Given the description of an element on the screen output the (x, y) to click on. 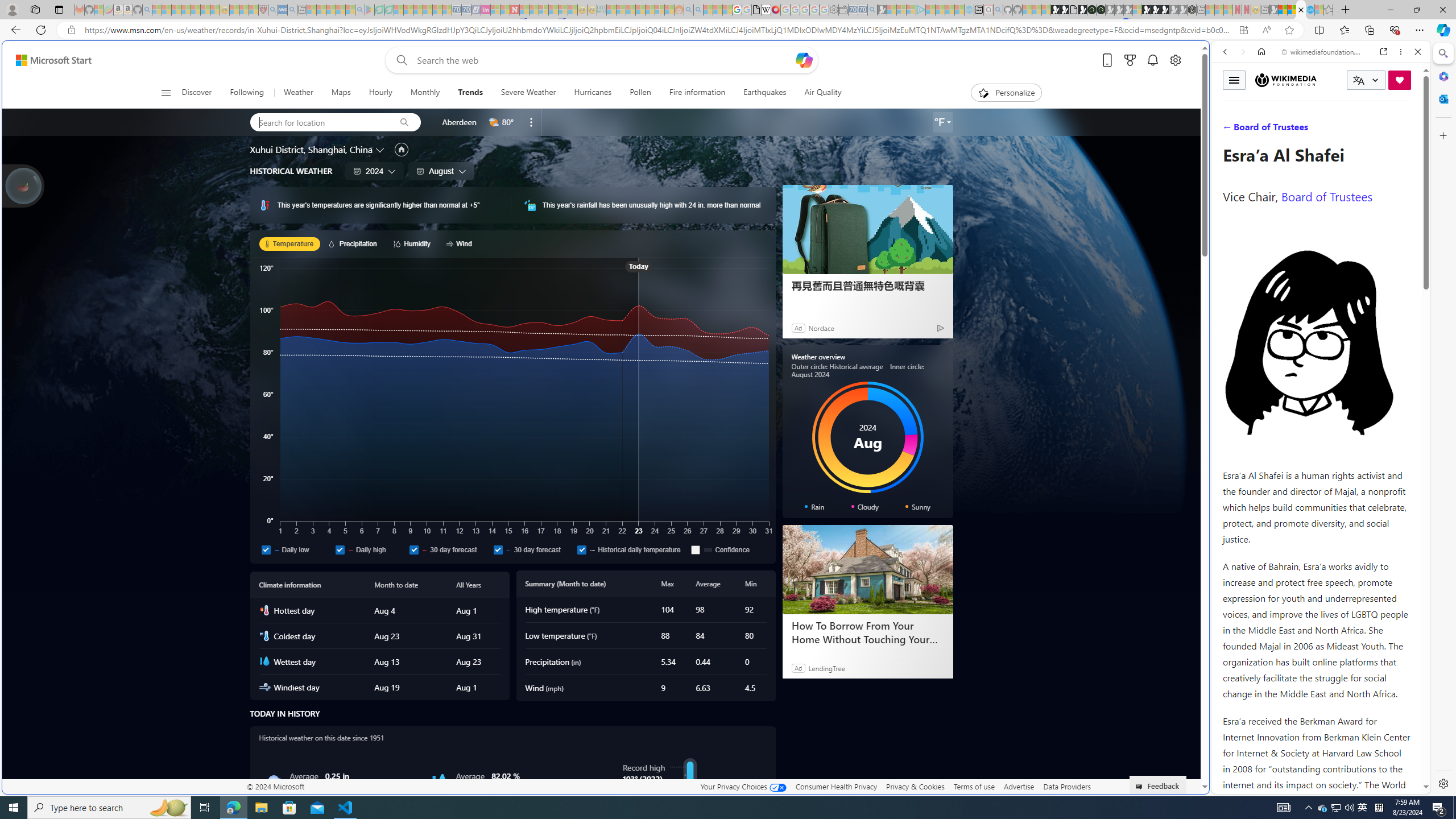
Remove location (531, 122)
Confidence (695, 549)
Humidity (439, 781)
Class: feedback_link_icon-DS-EntryPoint1-1 (1140, 786)
